Given the description of an element on the screen output the (x, y) to click on. 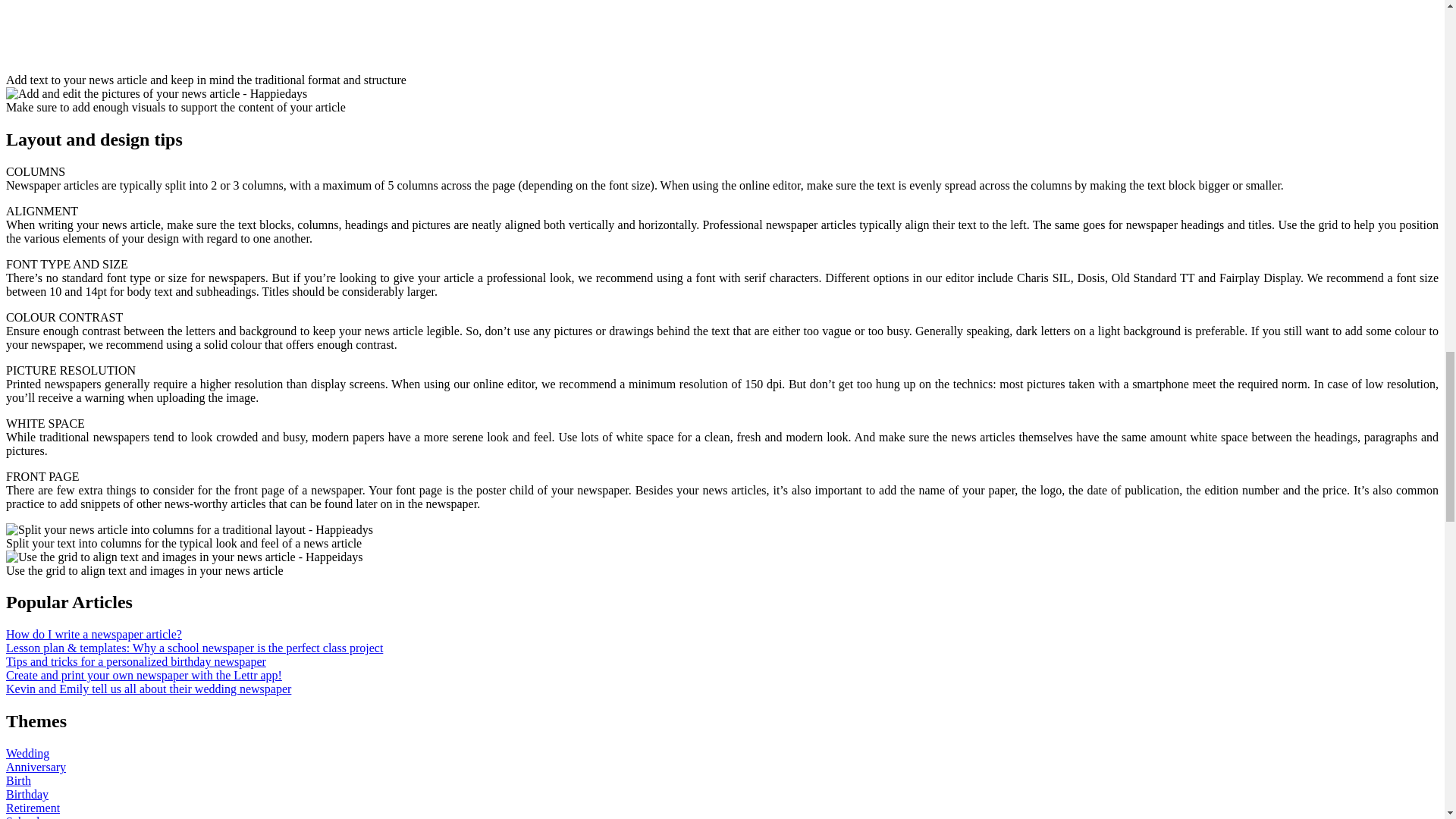
Retirement (32, 807)
School (22, 816)
Tips and tricks for a personalized birthday newspaper (135, 661)
Kevin and Emily tell us all about their wedding newspaper (148, 688)
Anniversary (35, 766)
Birthday (26, 793)
Birth (17, 780)
Wedding (27, 753)
Create and print your own newspaper with the Lettr app! (143, 675)
How do I write a newspaper article? (93, 634)
